Given the description of an element on the screen output the (x, y) to click on. 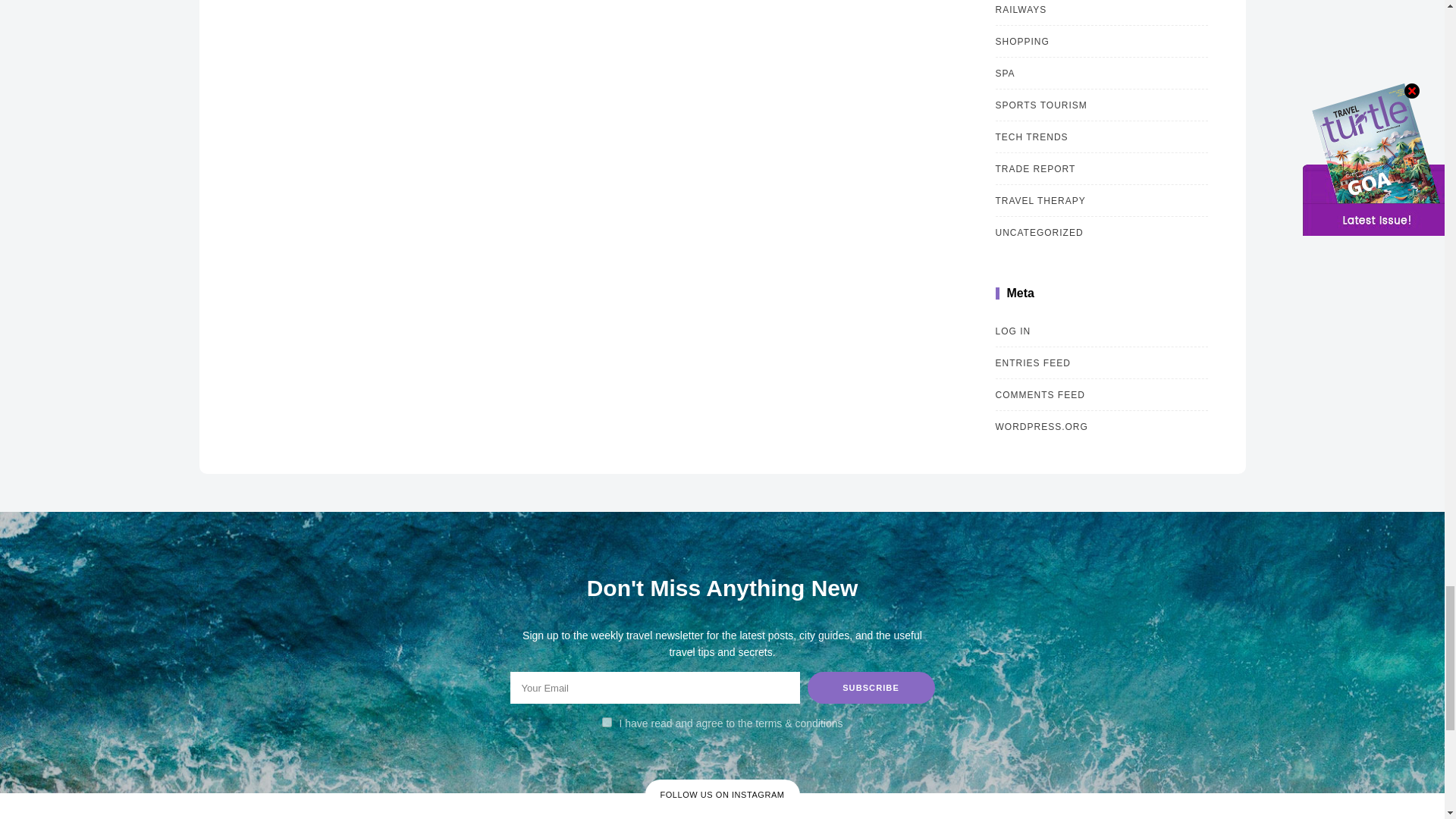
1 (606, 722)
Subscribe (870, 687)
